Given the description of an element on the screen output the (x, y) to click on. 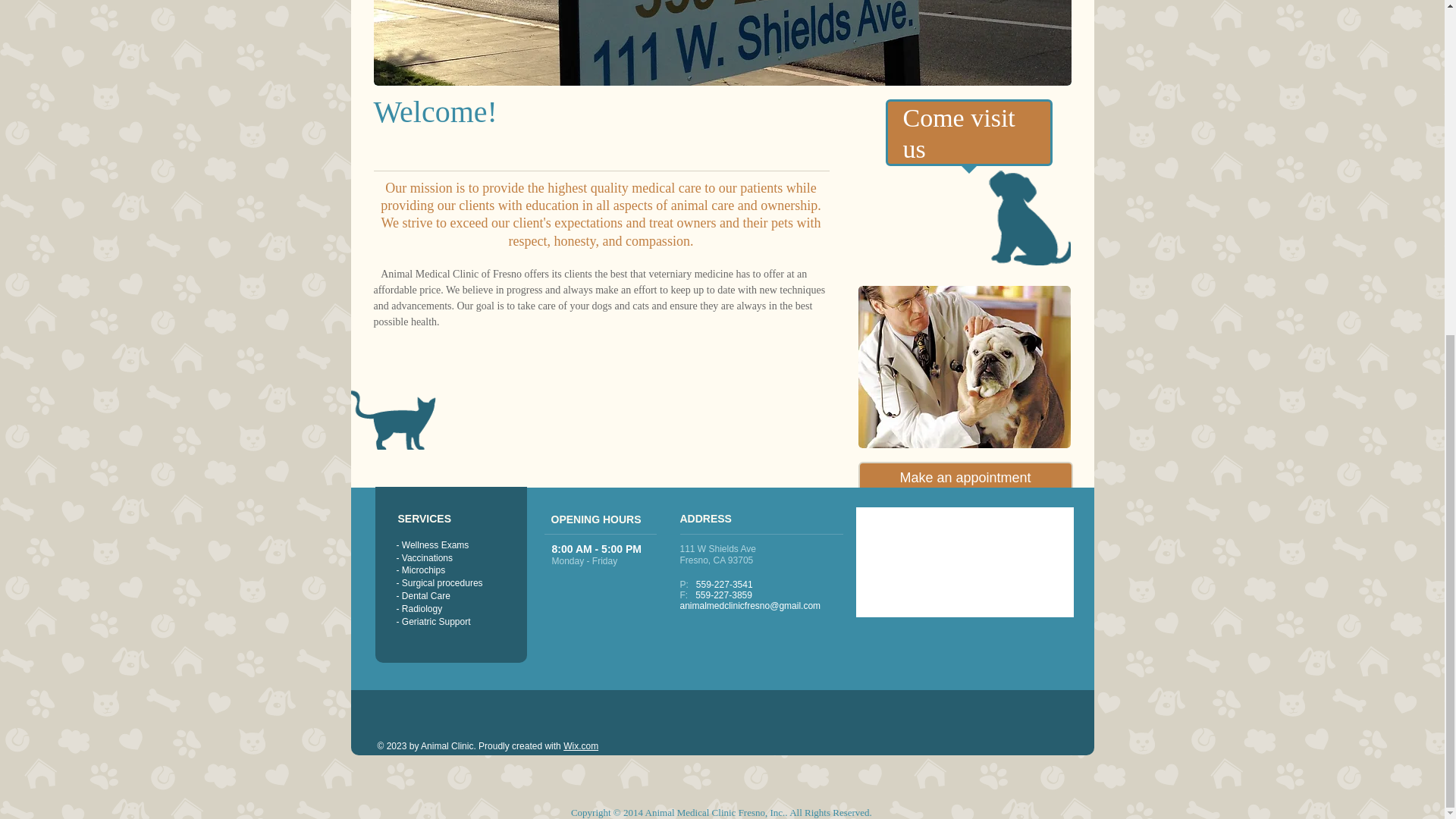
Make an appointment (966, 478)
bull.jpg (964, 366)
Wix.com (580, 746)
